Given the description of an element on the screen output the (x, y) to click on. 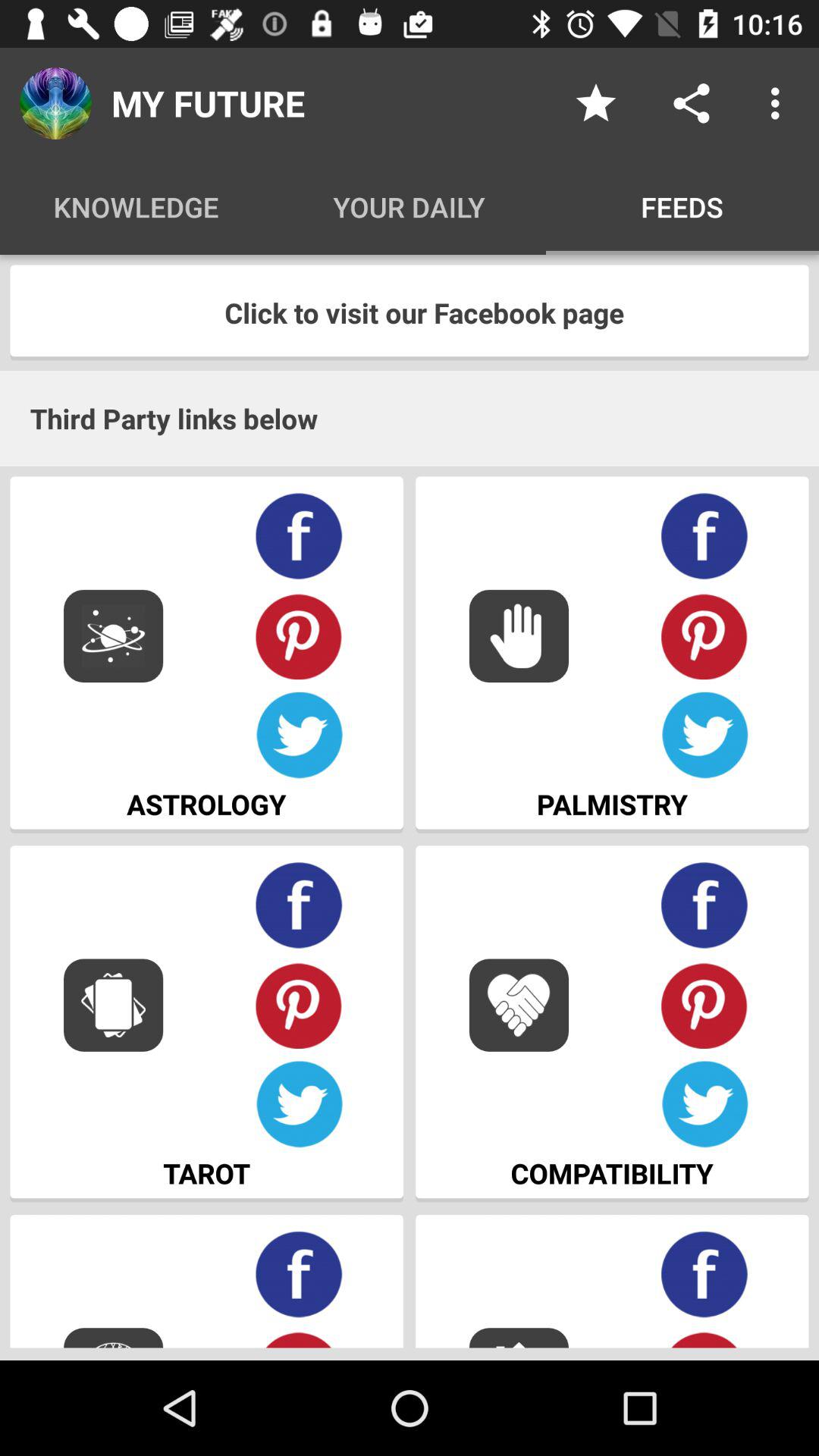
post to social media (691, 103)
